Given the description of an element on the screen output the (x, y) to click on. 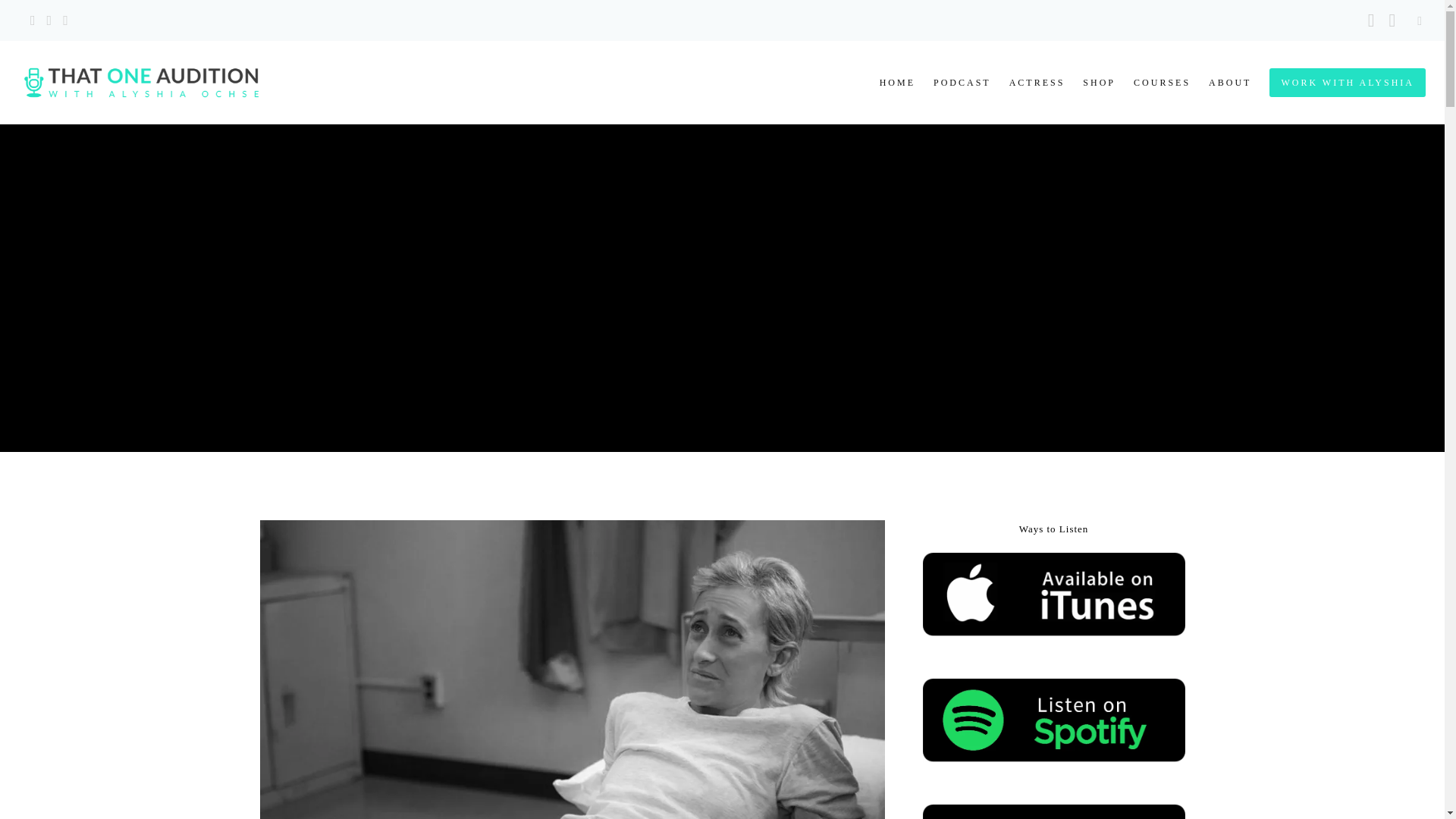
PODCAST (953, 82)
ACTRESS (1028, 82)
COURSES (1153, 82)
WORK WITH ALYSHIA (1337, 82)
